Given the description of an element on the screen output the (x, y) to click on. 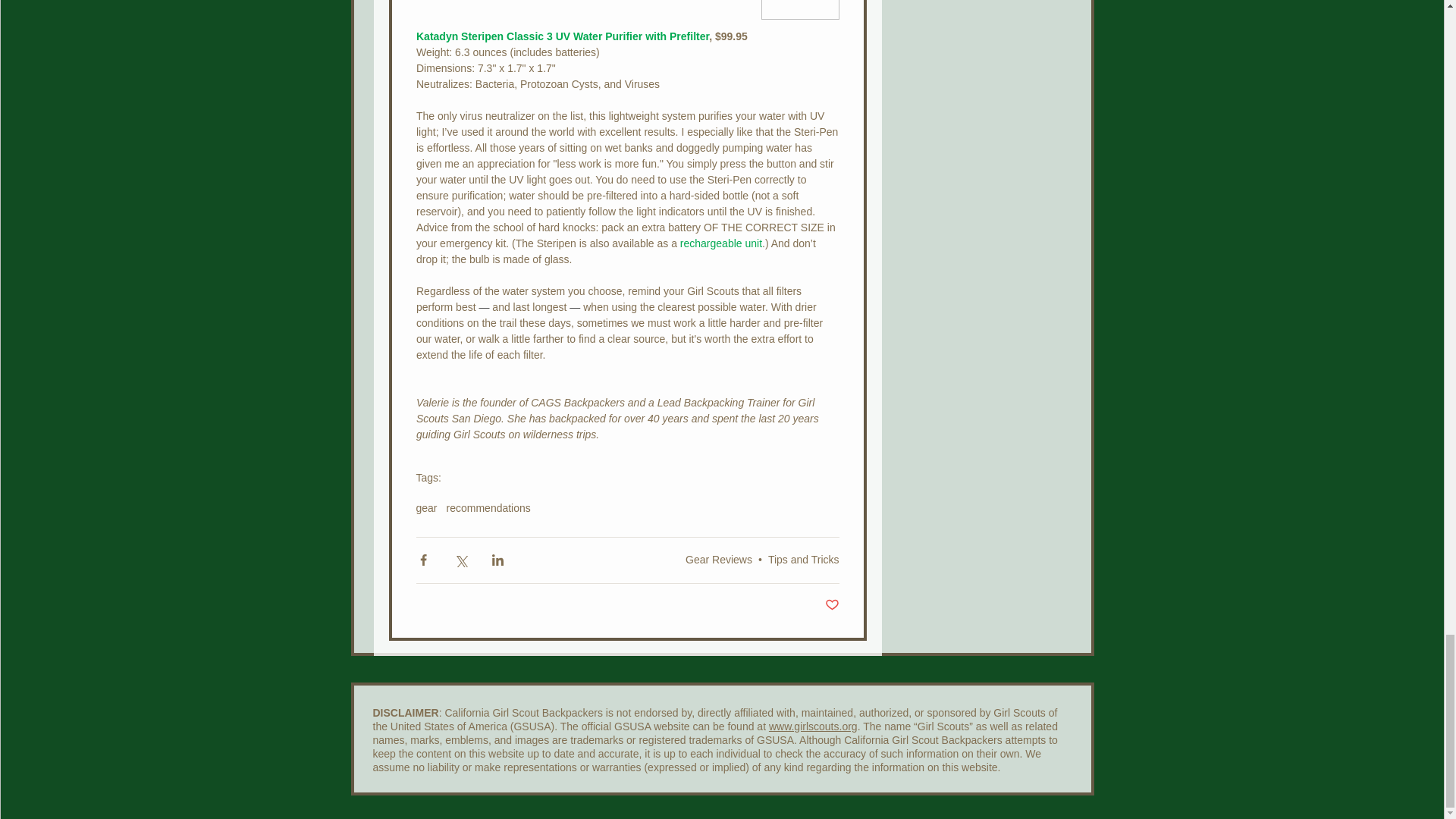
Gear Reviews (718, 559)
gear (425, 508)
Katadyn Steripen Classic 3 UV Water Purifier with Prefilter (560, 36)
recommendations (488, 508)
Post not marked as liked (832, 605)
rechargeable unit (720, 243)
Tips and Tricks (804, 559)
